Given the description of an element on the screen output the (x, y) to click on. 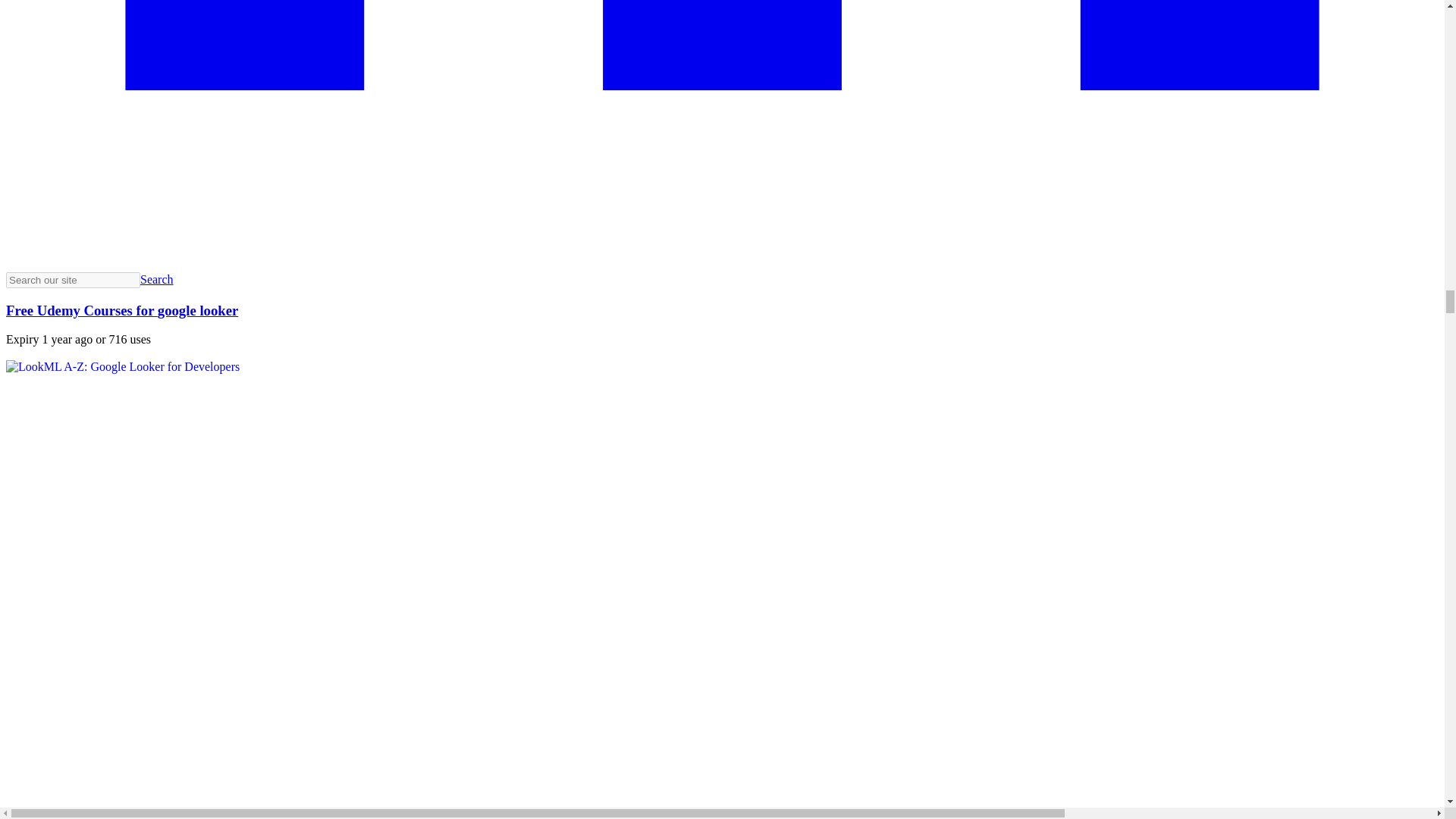
Search (156, 278)
Free Udemy Courses for google looker (121, 310)
